Given the description of an element on the screen output the (x, y) to click on. 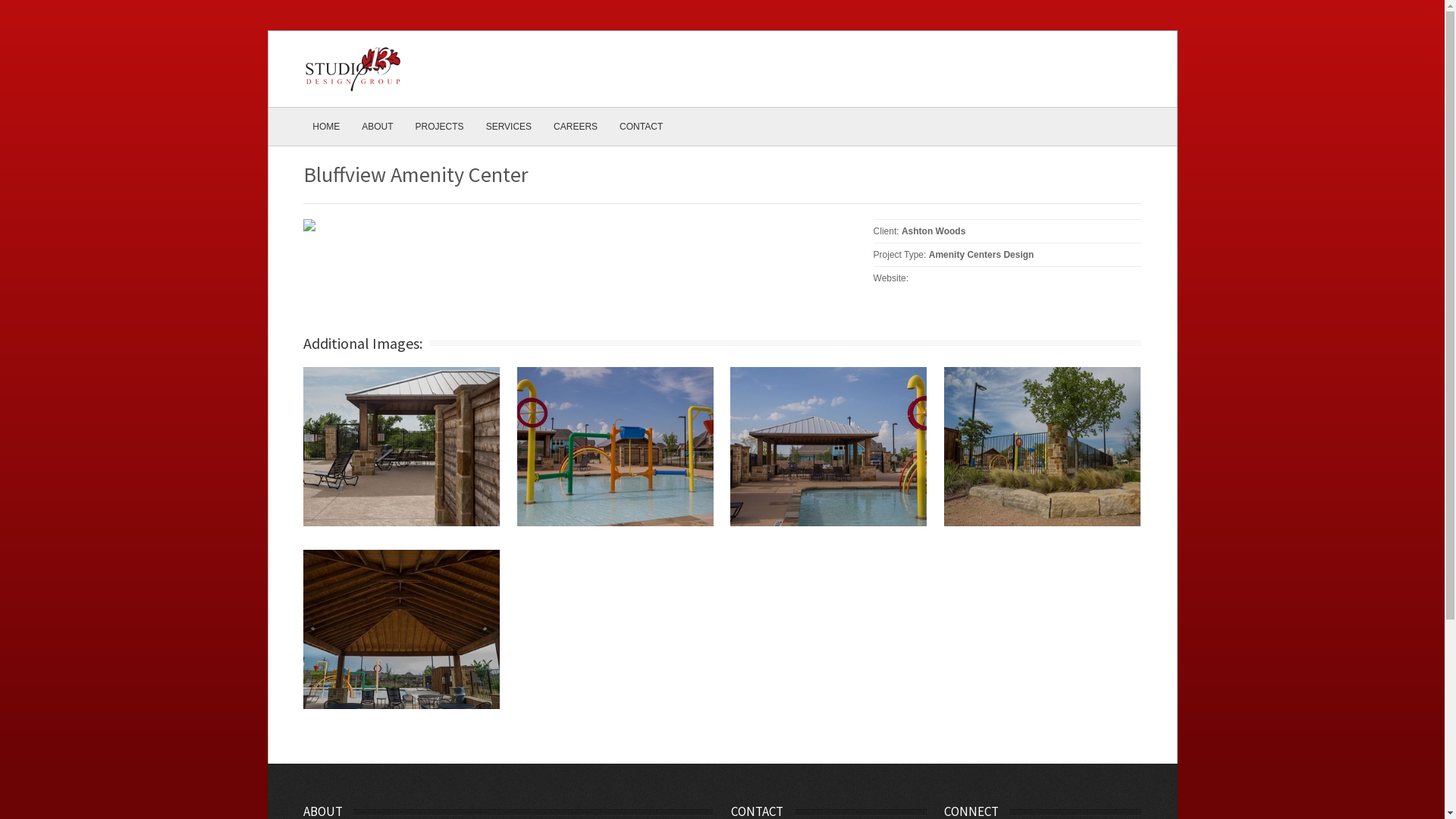
SERVICES Element type: text (508, 126)
HOME Element type: text (325, 126)
PROJECTS Element type: text (439, 126)
CAREERS Element type: text (575, 126)
CONTACT Element type: text (640, 126)
ABOUT Element type: text (376, 126)
